Given the description of an element on the screen output the (x, y) to click on. 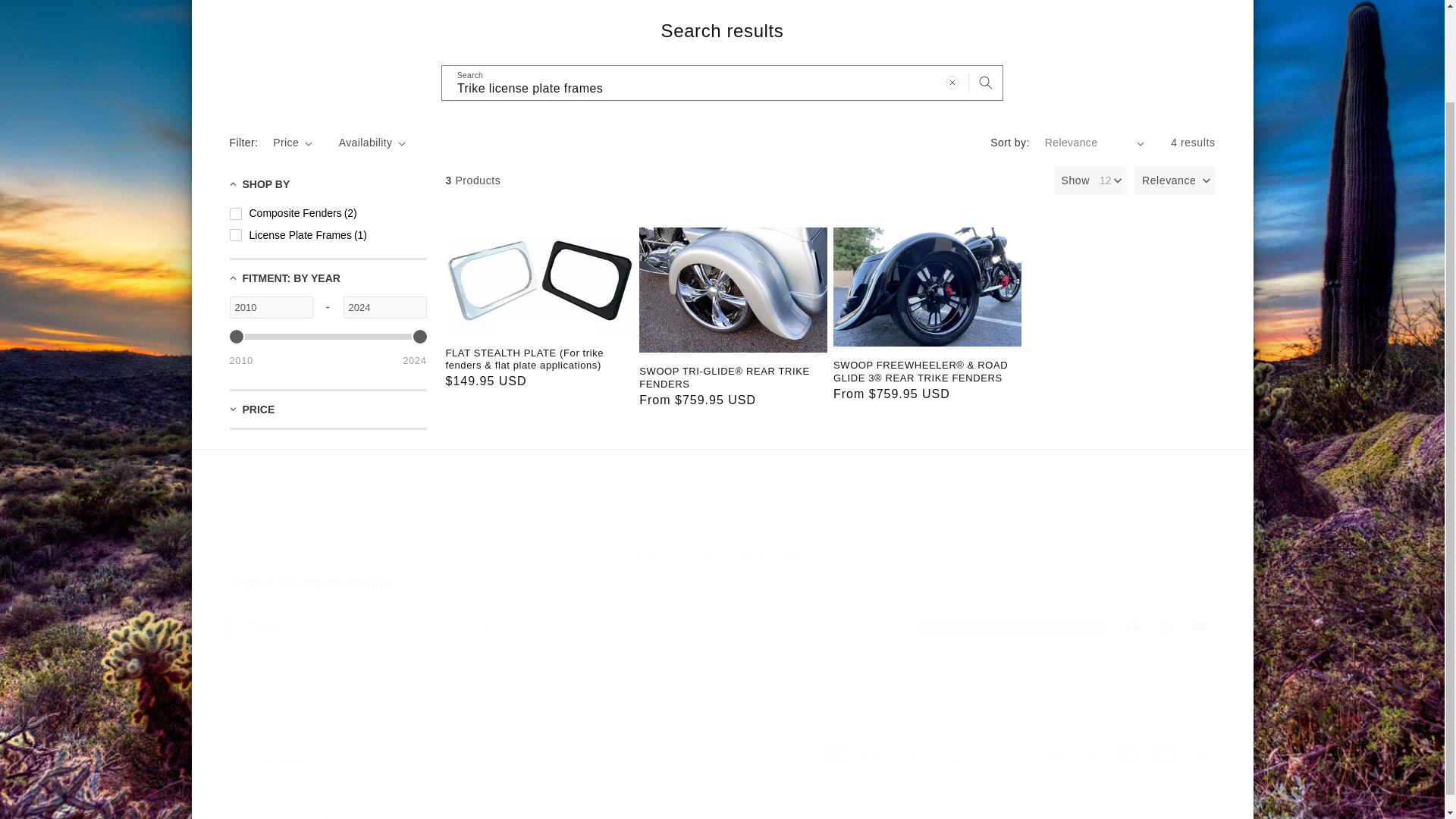
Composite Fenders (292, 213)
Trike license plate frames (721, 536)
License Plate Frames (722, 82)
Trike license plate frames (297, 235)
2024 (722, 82)
2010 (384, 307)
